Given the description of an element on the screen output the (x, y) to click on. 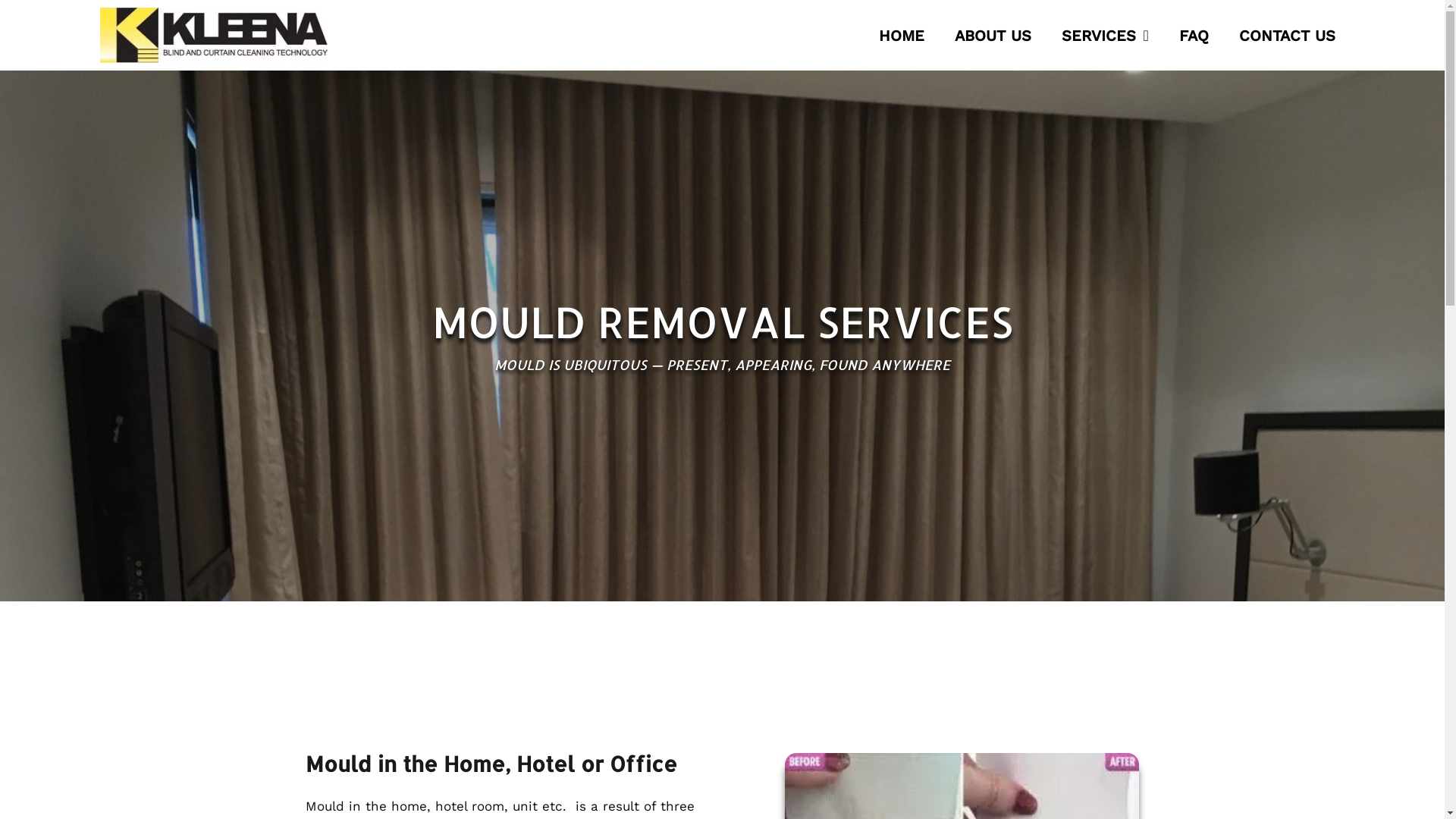
ABOUT US Element type: text (992, 35)
FAQ Element type: text (1193, 35)
SERVICES Element type: text (1105, 35)
HOME Element type: text (901, 35)
CONTACT US Element type: text (1286, 35)
